Given the description of an element on the screen output the (x, y) to click on. 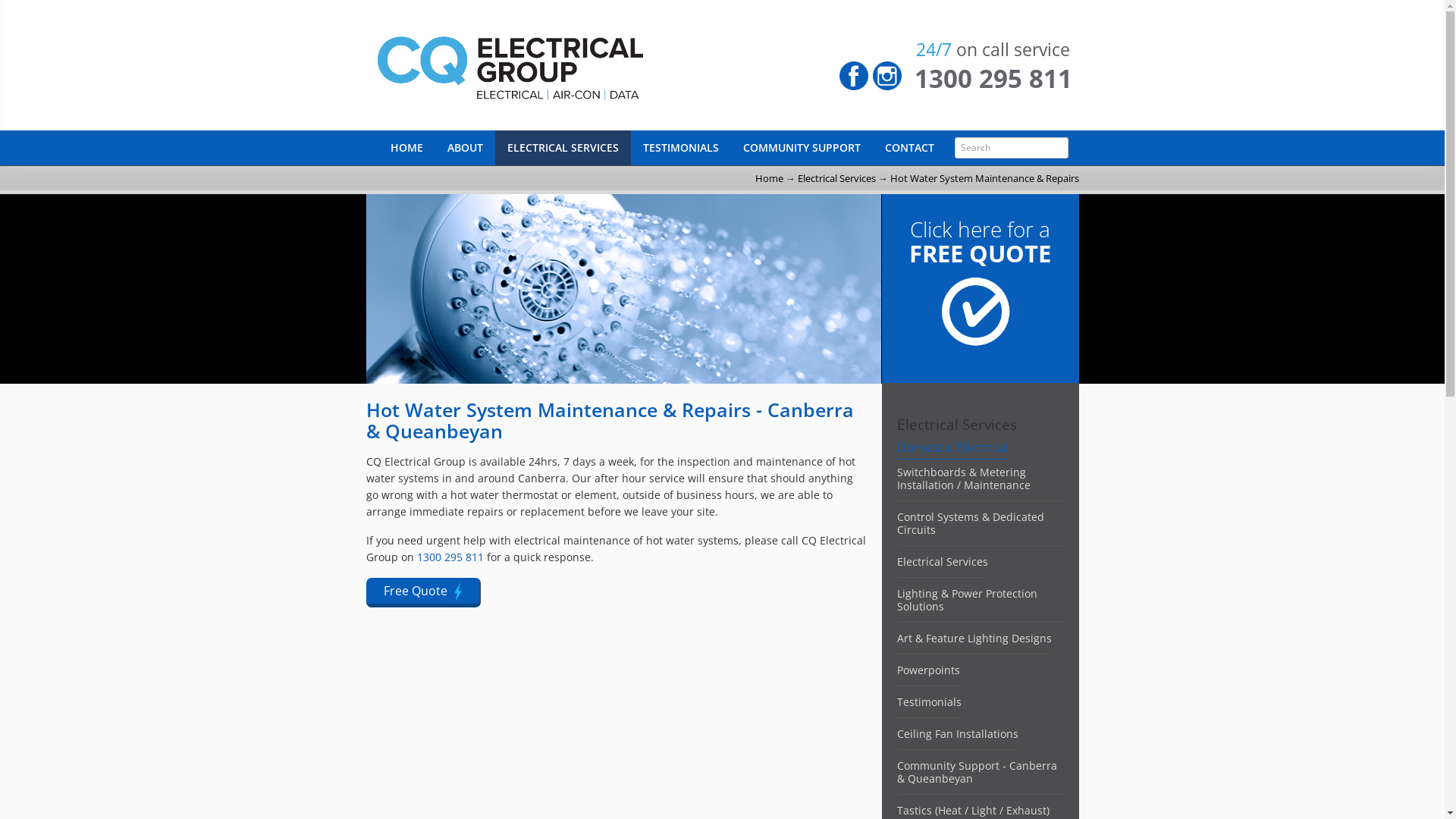
Art & Feature Lighting Designs Element type: text (973, 637)
Ceiling Fan Installations Element type: text (956, 733)
CONTACT Element type: text (908, 147)
Control Systems & Dedicated Circuits Element type: text (969, 522)
Powerpoints Element type: text (927, 669)
Free Quote Element type: text (422, 592)
Electrical Services Element type: text (836, 178)
TESTIMONIALS Element type: text (680, 147)
COMMUNITY SUPPORT Element type: text (801, 147)
Switchboards & Metering Installation / Maintenance Element type: text (962, 478)
Click here for a
FREE QUOTE Element type: text (980, 316)
1300 295 811 Element type: text (450, 556)
Lighting & Power Protection Solutions Element type: text (966, 599)
Home Element type: hover (570, 64)
Home Element type: text (769, 178)
HOME Element type: text (405, 147)
Electrical Services Element type: text (941, 561)
ABOUT Element type: text (465, 147)
Community Support - Canberra & Queanbeyan Element type: text (976, 771)
Testimonials Element type: text (928, 701)
Enter the terms you wish to search for. Element type: hover (1010, 147)
Skip to main content Element type: text (47, 0)
ELECTRICAL SERVICES Element type: text (562, 147)
1300 295 811 Element type: text (993, 78)
